Given the description of an element on the screen output the (x, y) to click on. 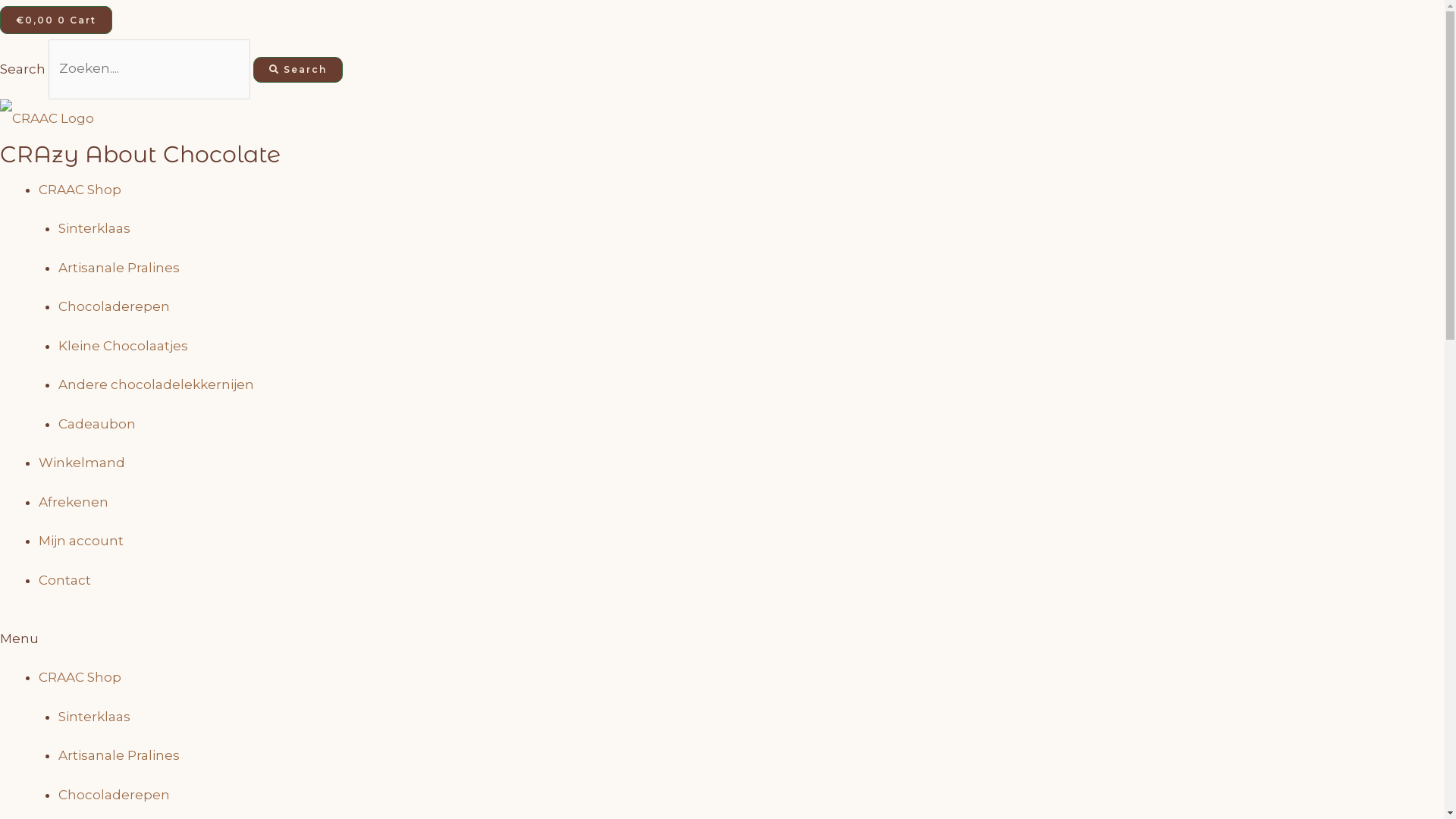
Artisanale Pralines Element type: text (117, 754)
Andere chocoladelekkernijen Element type: text (155, 384)
Afrekenen Element type: text (73, 501)
Contact Element type: text (64, 579)
Search Element type: text (297, 69)
Chocoladerepen Element type: text (113, 305)
Winkelmand Element type: text (81, 462)
Sinterklaas Element type: text (93, 716)
Mijn account Element type: text (80, 540)
Artisanale Pralines Element type: text (117, 267)
CRAAC Shop Element type: text (79, 676)
CRAAC Shop Element type: text (79, 189)
Chocoladerepen Element type: text (113, 794)
Sinterklaas Element type: text (93, 227)
Kleine Chocolaatjes Element type: text (122, 345)
Cadeaubon Element type: text (95, 423)
